Given the description of an element on the screen output the (x, y) to click on. 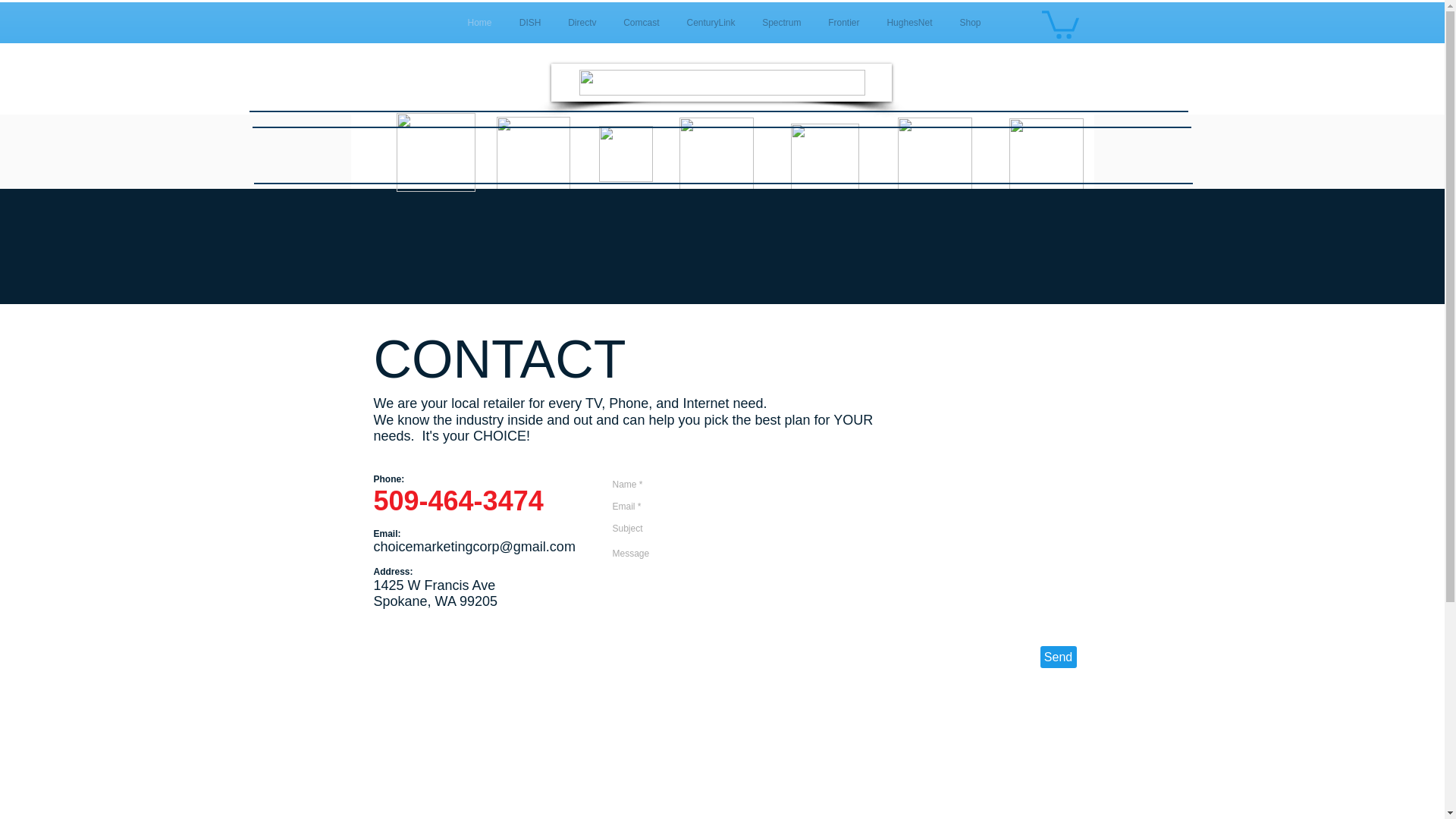
Spectrum (775, 22)
Shop (964, 22)
Comcast (635, 22)
HughesNet (903, 22)
Directv (576, 22)
CenturyLink (704, 22)
DISH (523, 22)
Frontier (837, 22)
Send (1059, 657)
Home (472, 22)
